Given the description of an element on the screen output the (x, y) to click on. 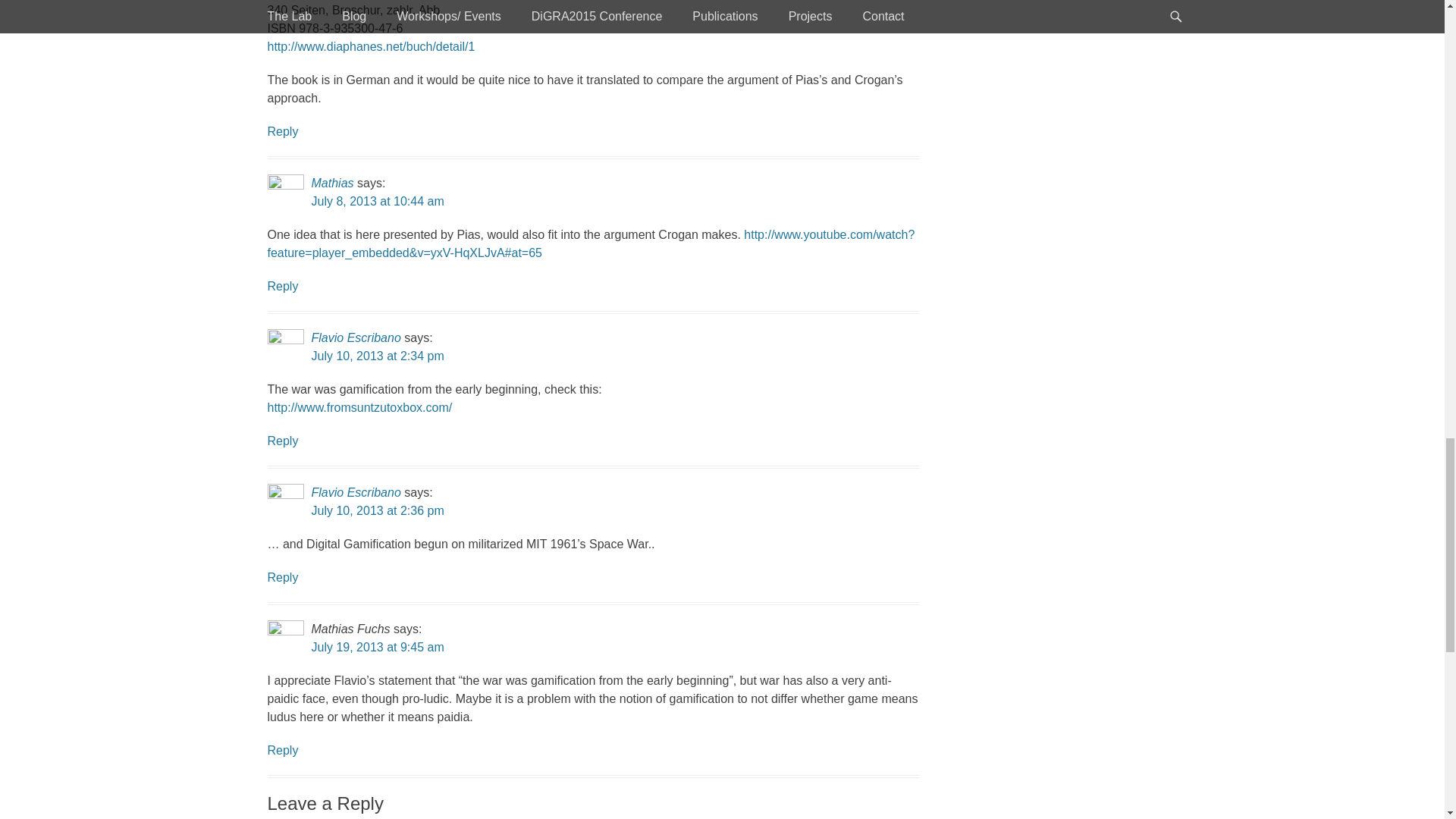
July 8, 2013 at 10:44 am (377, 201)
Flavio Escribano (355, 337)
Mathias (332, 182)
Reply (282, 286)
Reply (282, 131)
